Given the description of an element on the screen output the (x, y) to click on. 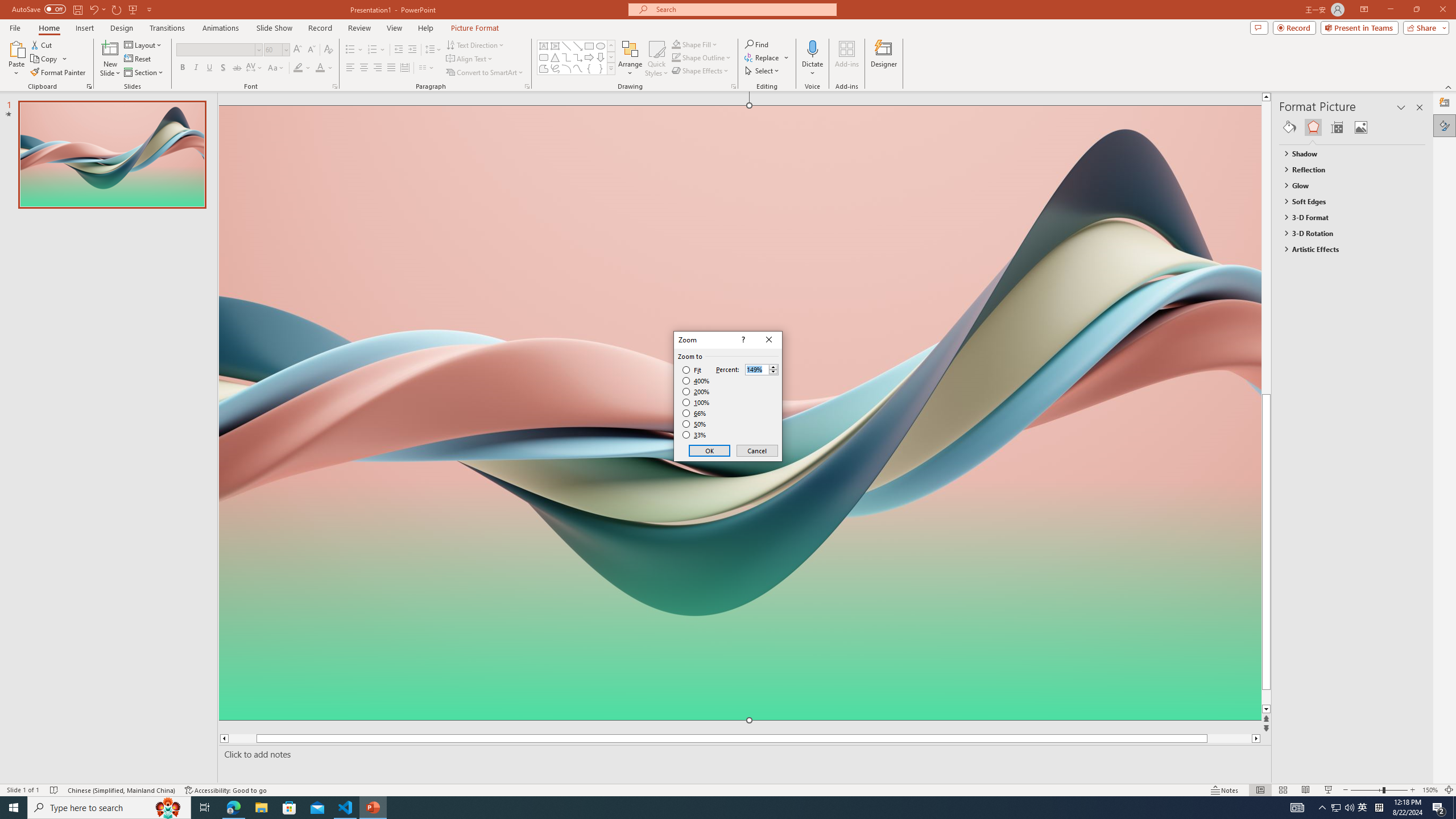
Picture Format (475, 28)
Page down (1287, 696)
33% (694, 434)
Distributed (404, 67)
Text Highlight Color Yellow (297, 67)
50% (694, 424)
Clear Formatting (327, 49)
Percent (756, 369)
Type here to search (108, 807)
Character Spacing (254, 67)
